Given the description of an element on the screen output the (x, y) to click on. 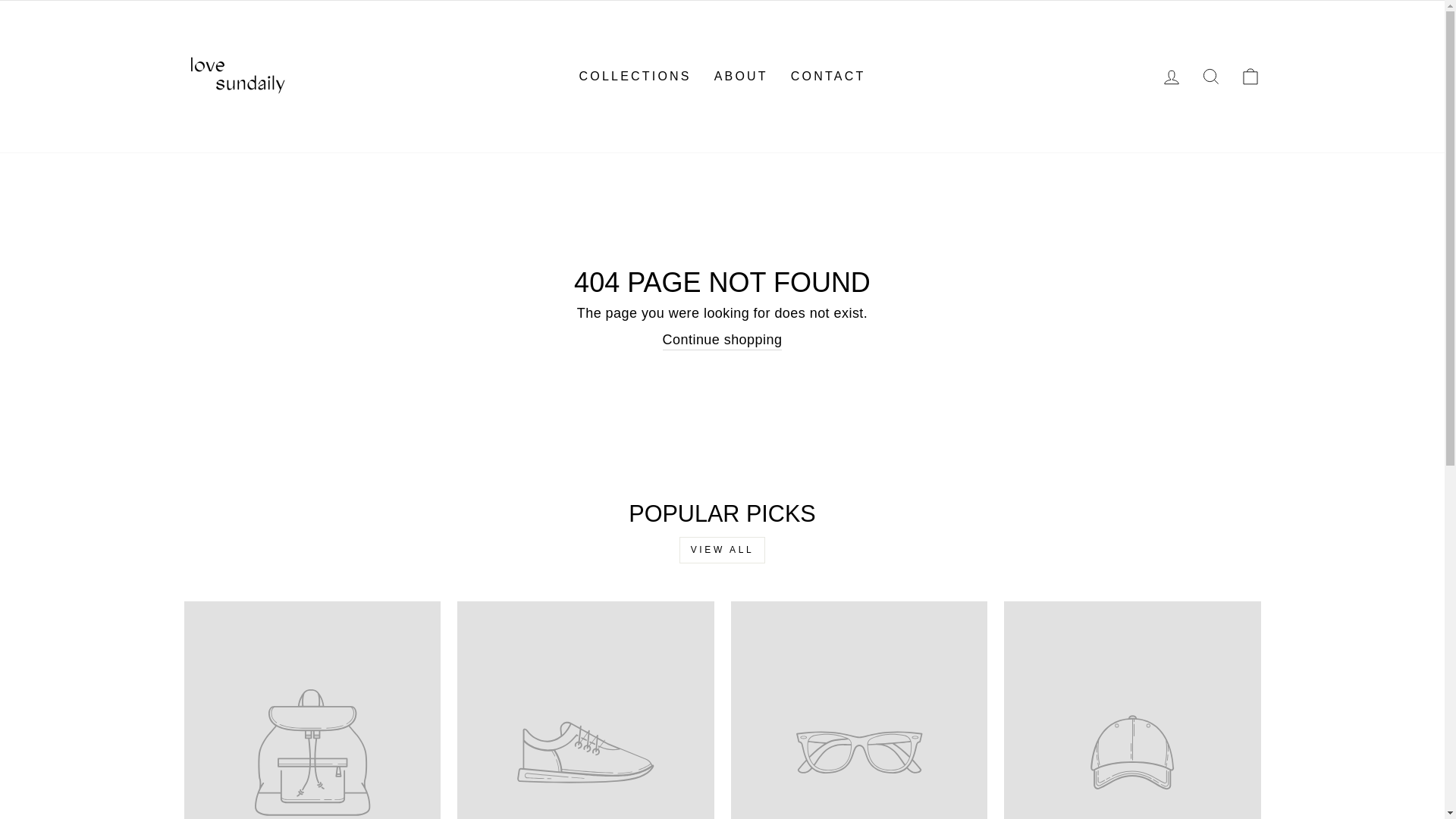
Continue shopping (722, 340)
COLLECTIONS (635, 76)
ABOUT (740, 76)
VIEW ALL (722, 550)
CART (1249, 76)
LOG IN (1171, 76)
CONTACT (827, 76)
SEARCH (1210, 76)
